Given the description of an element on the screen output the (x, y) to click on. 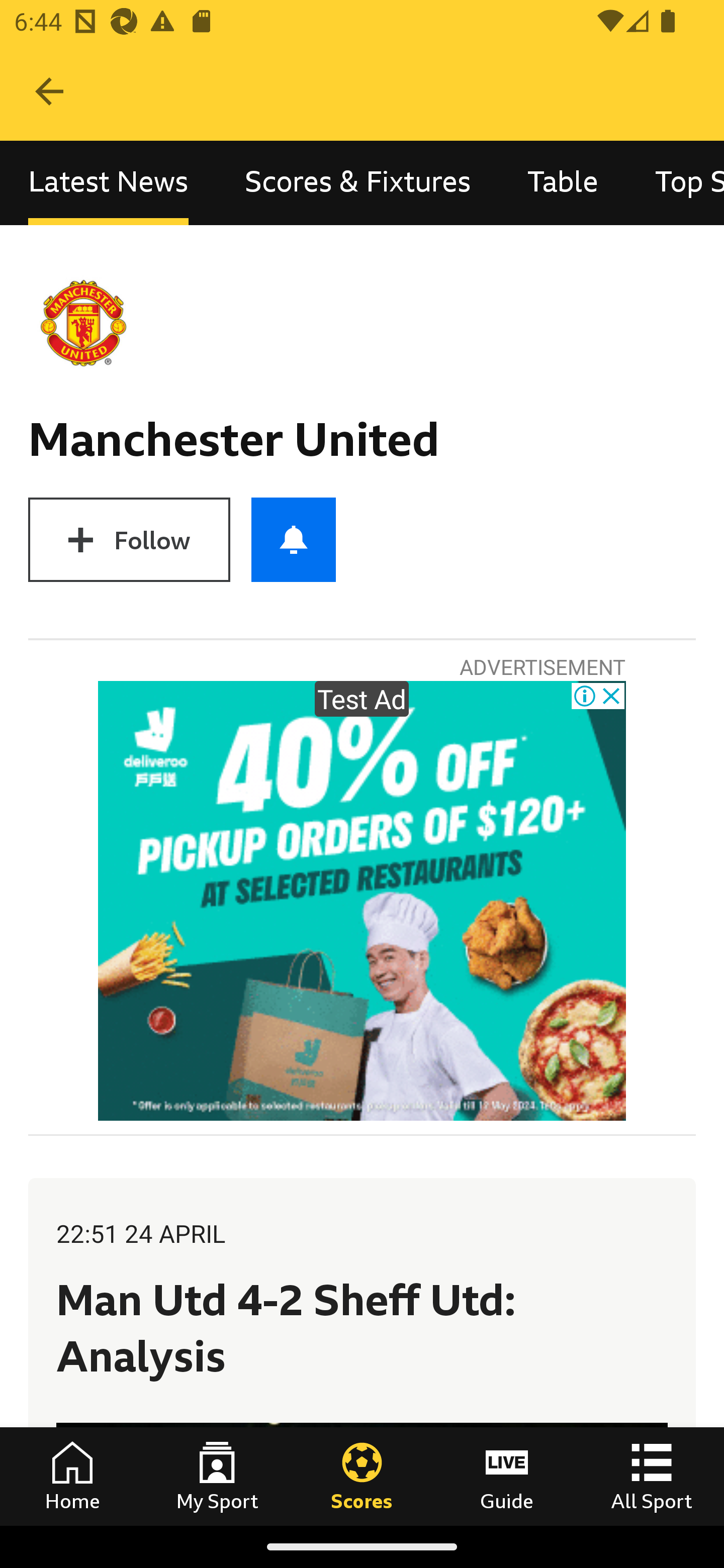
Navigate up (49, 91)
Latest News, selected Latest News (108, 183)
Scores & Fixtures (357, 183)
Table (562, 183)
Follow Manchester United Follow (129, 539)
Push notifications for Manchester United (293, 539)
Advertisement (361, 900)
Home (72, 1475)
My Sport (216, 1475)
Guide (506, 1475)
All Sport (651, 1475)
